Given the description of an element on the screen output the (x, y) to click on. 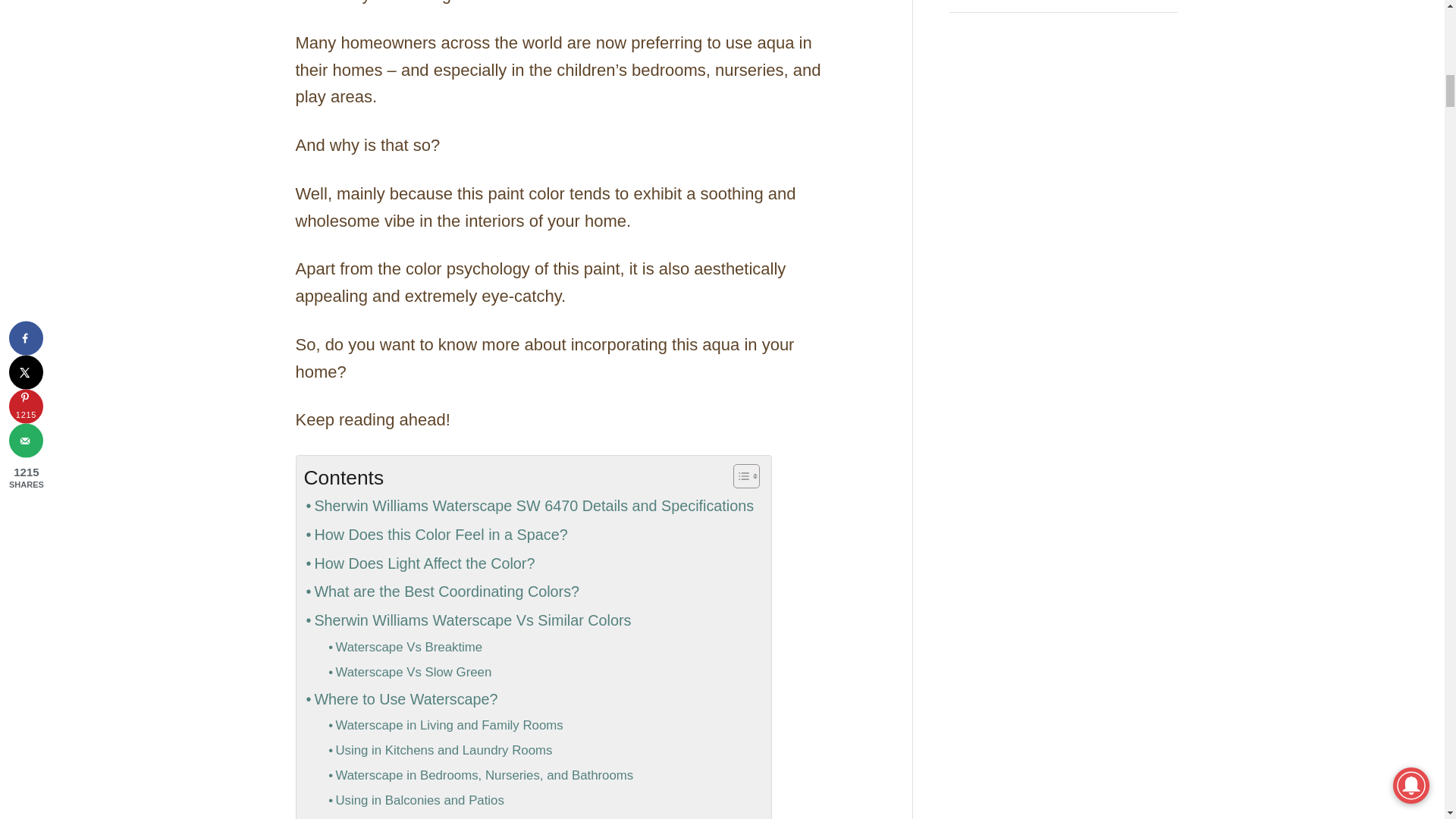
Using in Kitchens and Laundry Rooms (440, 750)
Waterscape on Exteriors (401, 816)
Waterscape in Living and Family Rooms (446, 725)
Waterscape Vs Slow Green (409, 672)
Using in Balconies and Patios (416, 801)
How Does Light Affect the Color? (419, 563)
Sherwin Williams Waterscape Vs Similar Colors (467, 620)
Waterscape Vs Breaktime (405, 647)
Waterscape in Bedrooms, Nurseries, and Bathrooms (480, 775)
Where to Use Waterscape? (400, 699)
What are the Best Coordinating Colors? (441, 592)
How Does this Color Feel in a Space? (435, 534)
